Given the description of an element on the screen output the (x, y) to click on. 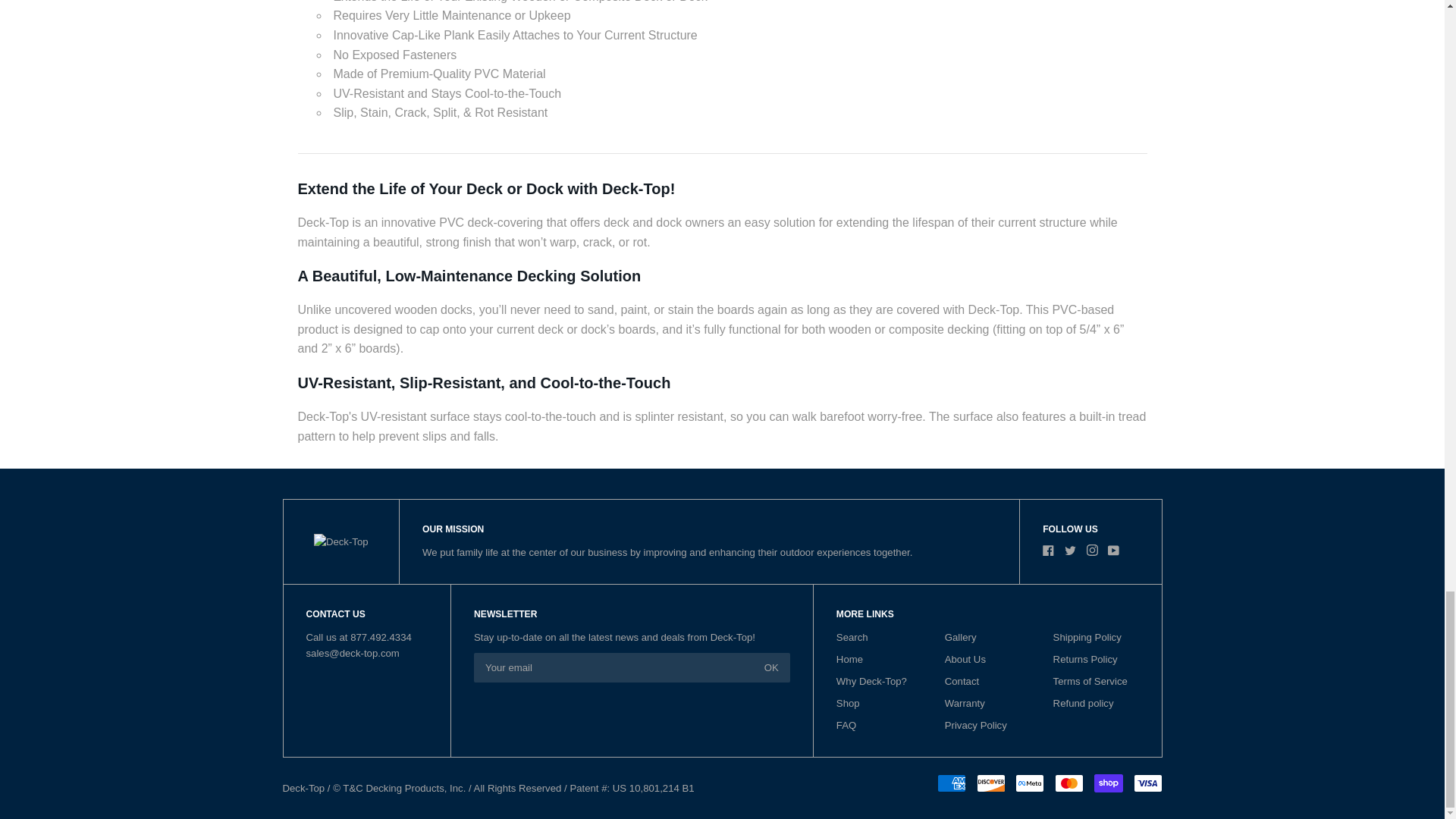
YouTube (1113, 550)
Meta Pay (1028, 782)
Facebook (1048, 550)
Twitter (1069, 550)
American Express (951, 782)
Shop Pay (1108, 782)
Instagram (1091, 550)
Discover (991, 782)
Mastercard (1068, 782)
Visa (1146, 782)
